Given the description of an element on the screen output the (x, y) to click on. 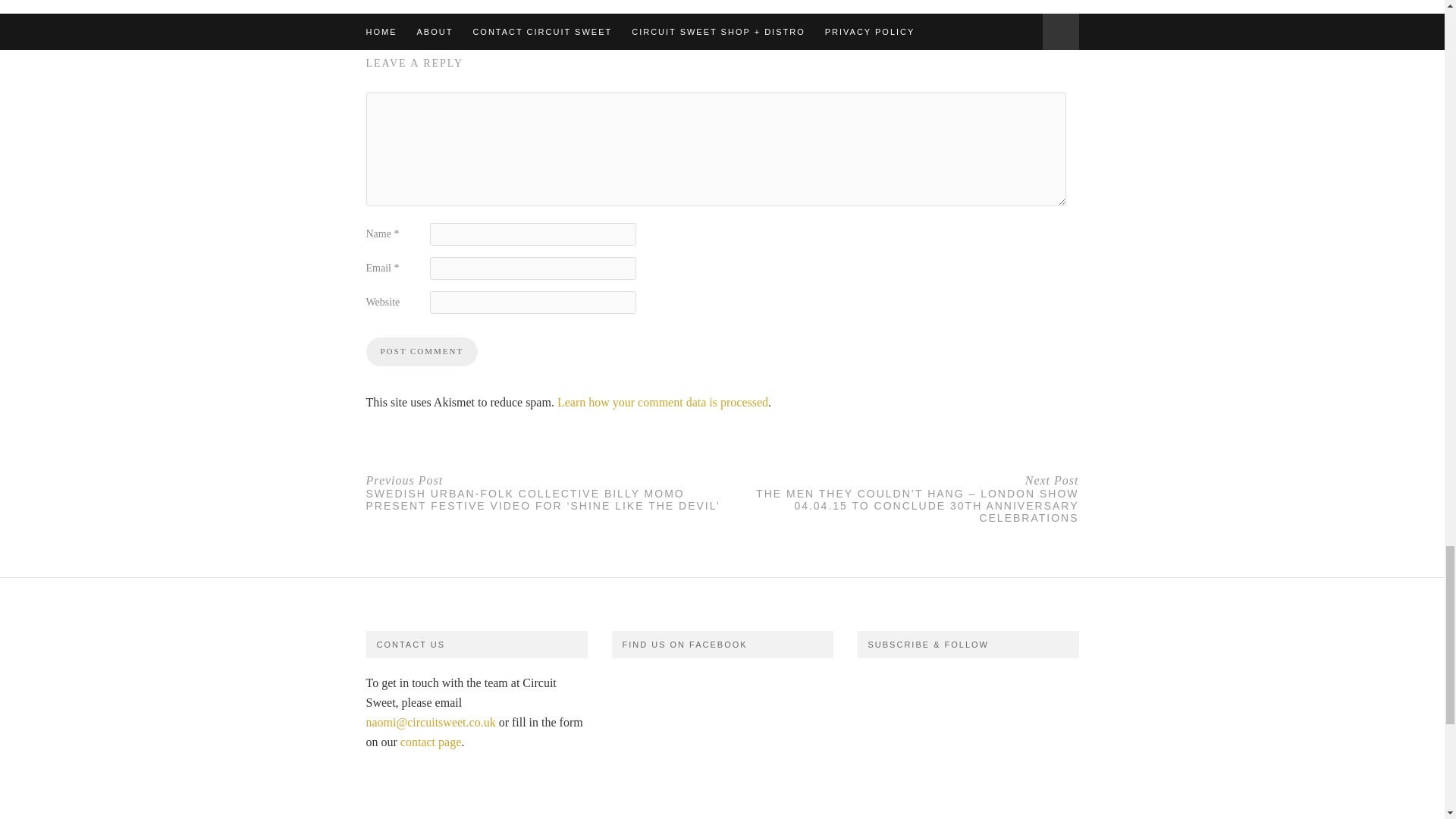
Post Comment (421, 351)
